Given the description of an element on the screen output the (x, y) to click on. 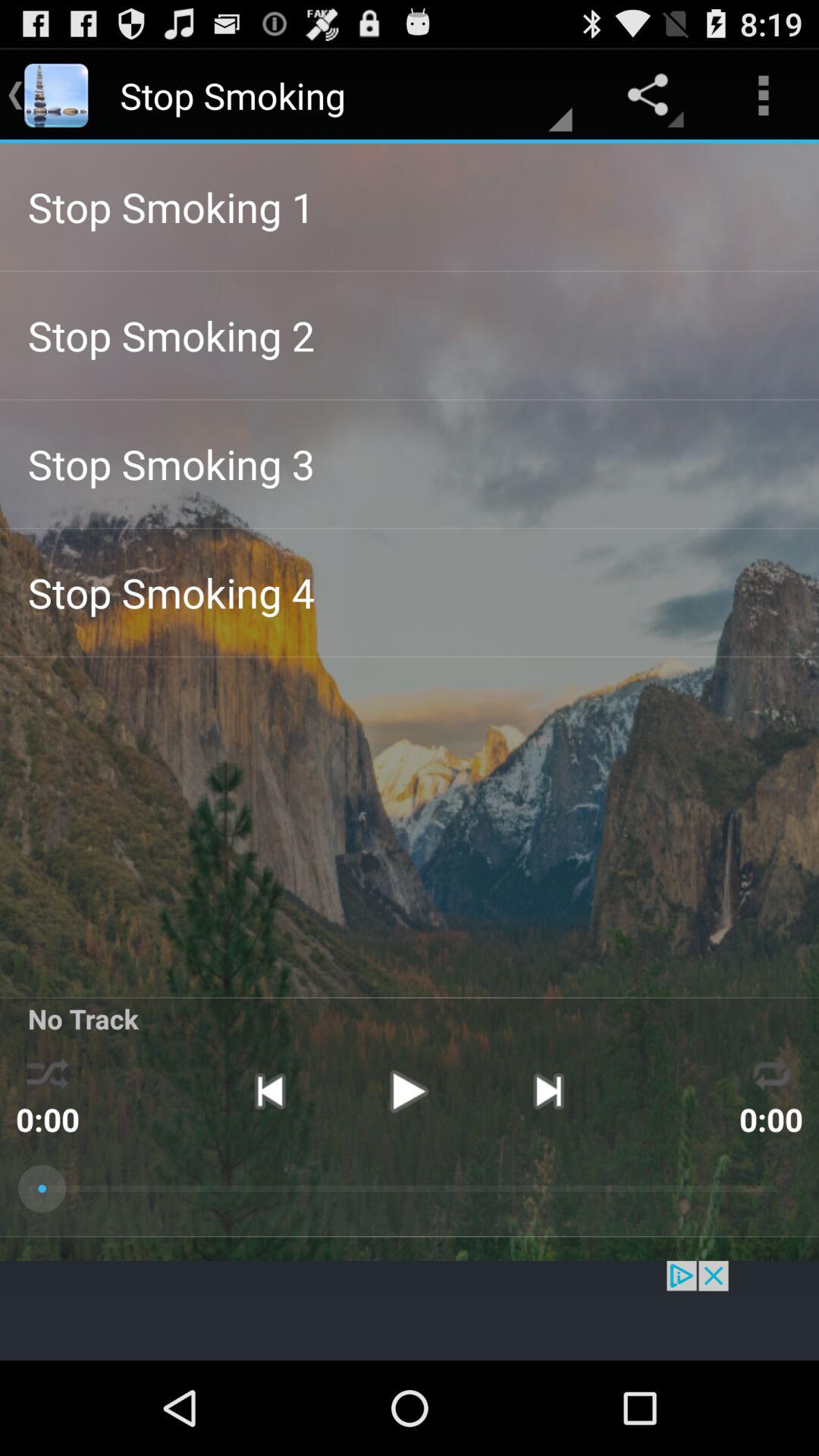
search (409, 1310)
